Given the description of an element on the screen output the (x, y) to click on. 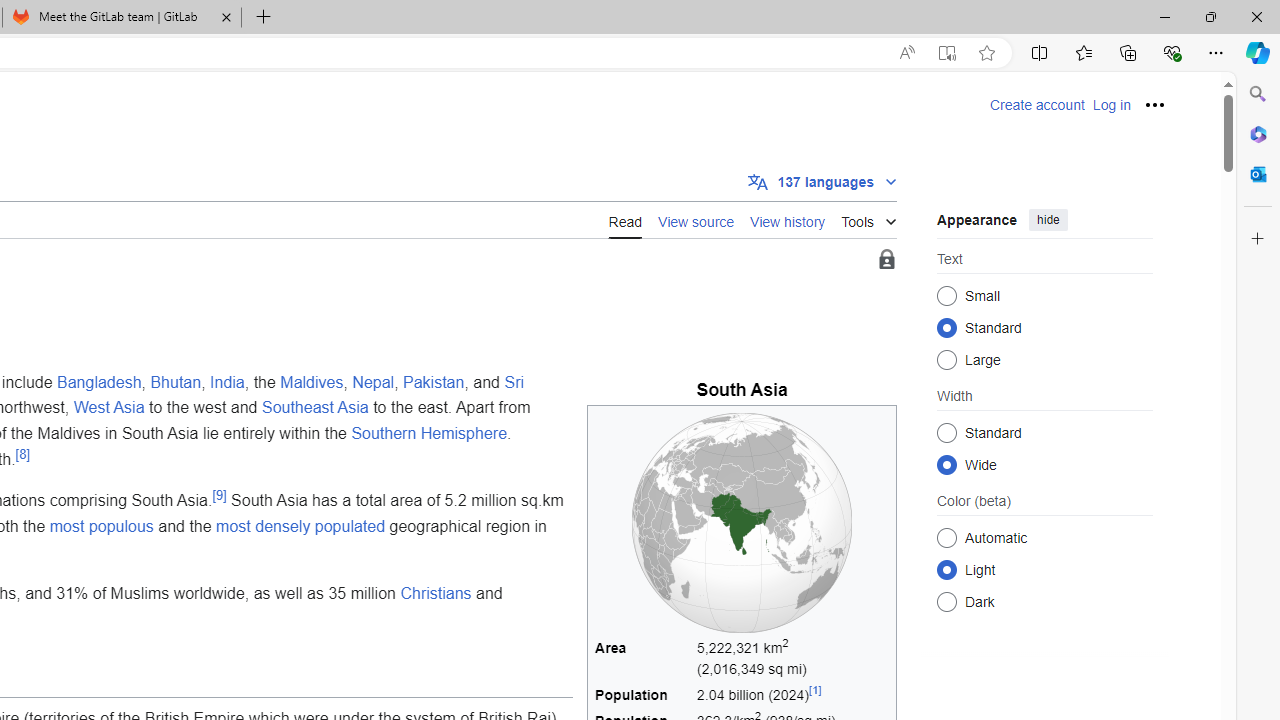
Log in (1111, 105)
Log in (1111, 105)
View source (695, 219)
View history (787, 219)
Read (625, 219)
Class: infobox-image (741, 522)
Bangladesh (99, 381)
Create account (1037, 105)
Page semi-protected (886, 259)
